Given the description of an element on the screen output the (x, y) to click on. 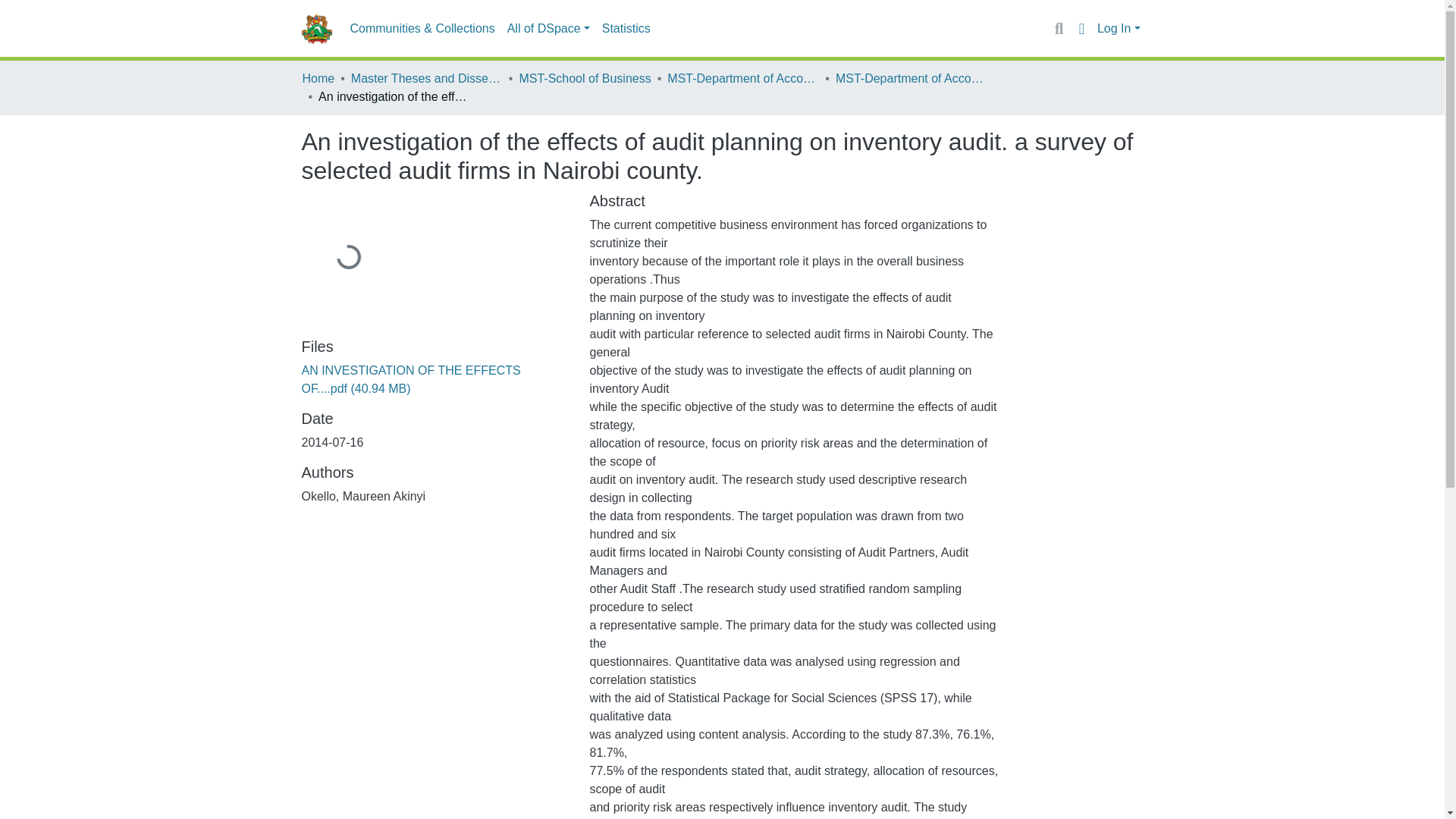
Language switch (1081, 28)
Statistics (625, 28)
Log In (1118, 28)
Home (317, 78)
Statistics (625, 28)
MST-School of Business (584, 78)
MST-Department of Accounting and Finance (911, 78)
Search (1058, 28)
MST-Department of Accounting and Finance (742, 78)
All of DSpace (547, 28)
